Given the description of an element on the screen output the (x, y) to click on. 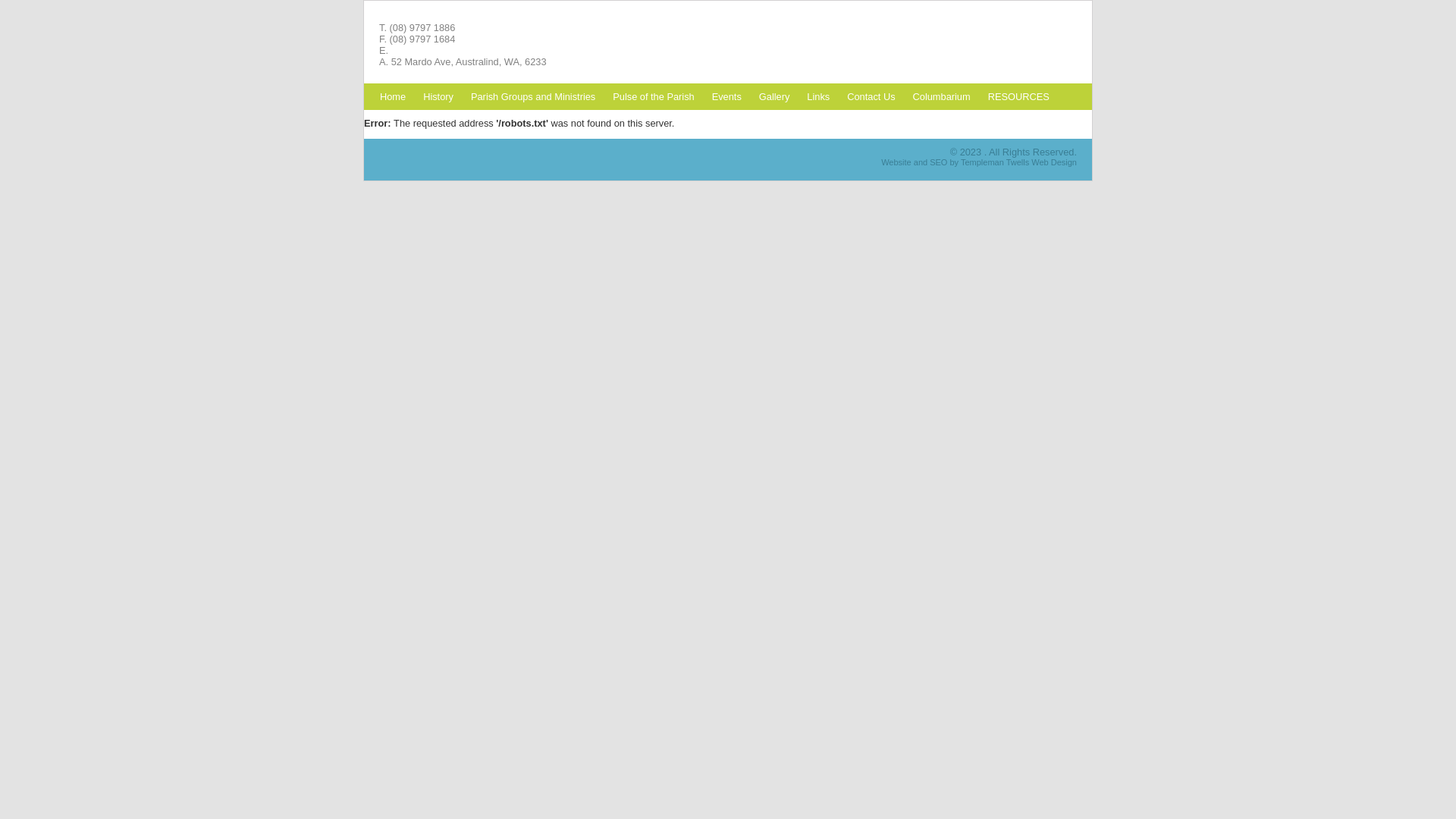
Pulse of the Parish Element type: text (653, 96)
Parish Groups and Ministries Element type: text (533, 96)
SEO Element type: text (938, 161)
Website Element type: text (896, 161)
History Element type: text (438, 96)
Events Element type: text (726, 96)
RESOURCES Element type: text (1018, 96)
Links Element type: text (818, 96)
Contact Us Element type: text (870, 96)
Gallery Element type: text (774, 96)
Templeman Twells Web Design Element type: text (1018, 161)
Columbarium Element type: text (941, 96)
Home Element type: text (392, 96)
